Given the description of an element on the screen output the (x, y) to click on. 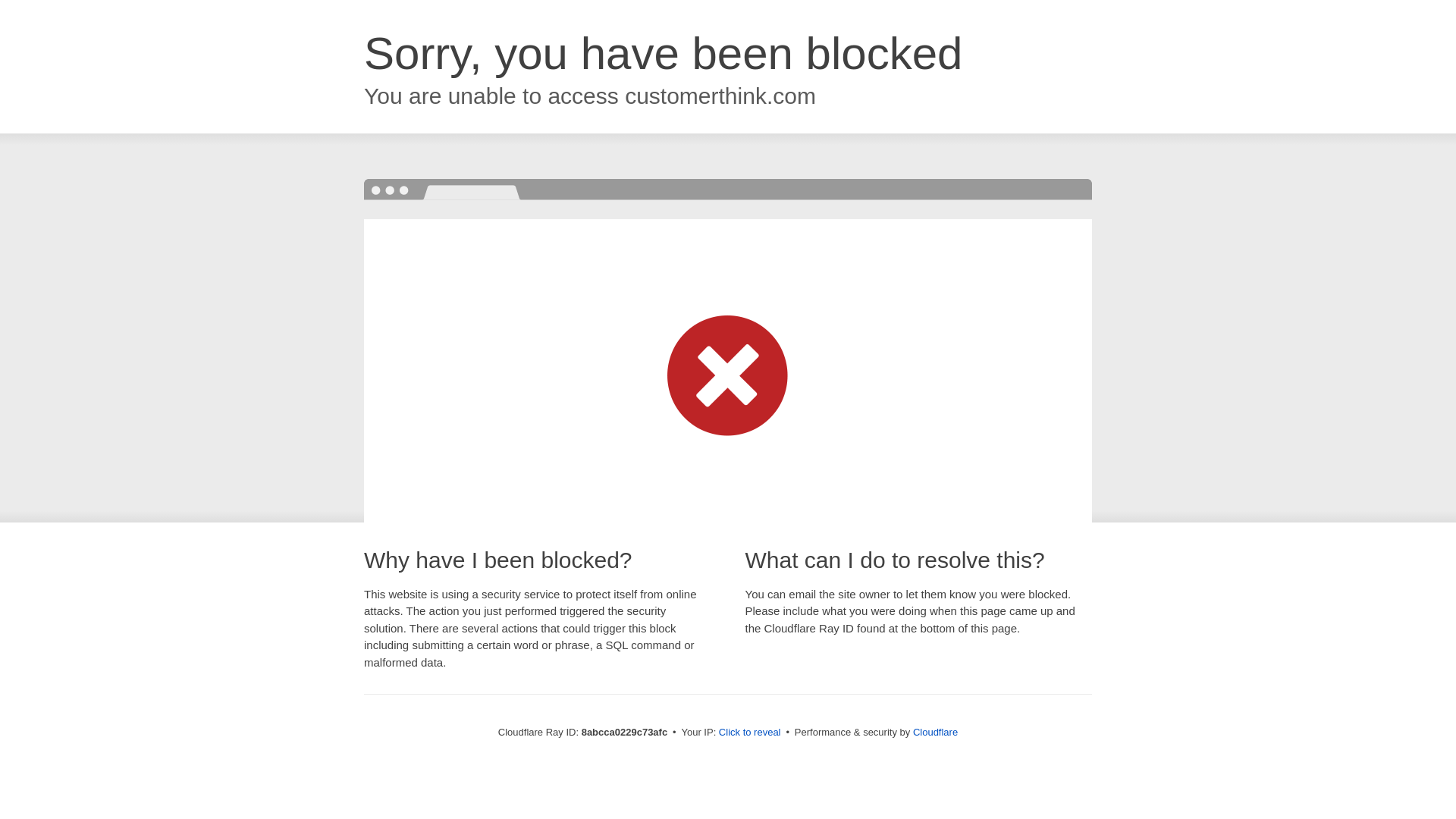
Click to reveal (749, 732)
Cloudflare (935, 731)
